Given the description of an element on the screen output the (x, y) to click on. 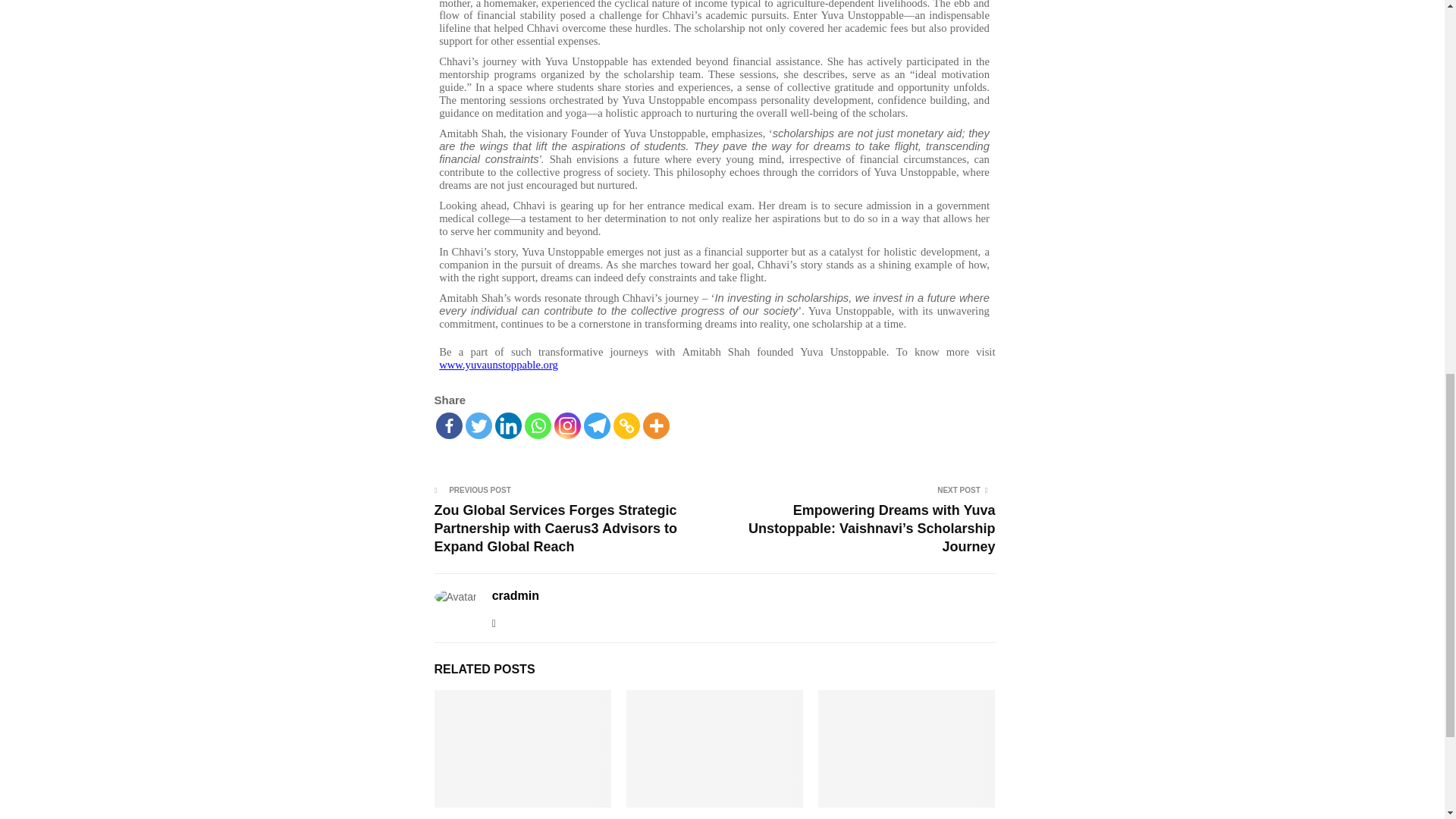
Linkedin (508, 425)
Facebook (448, 425)
Twitter (478, 425)
